Given the description of an element on the screen output the (x, y) to click on. 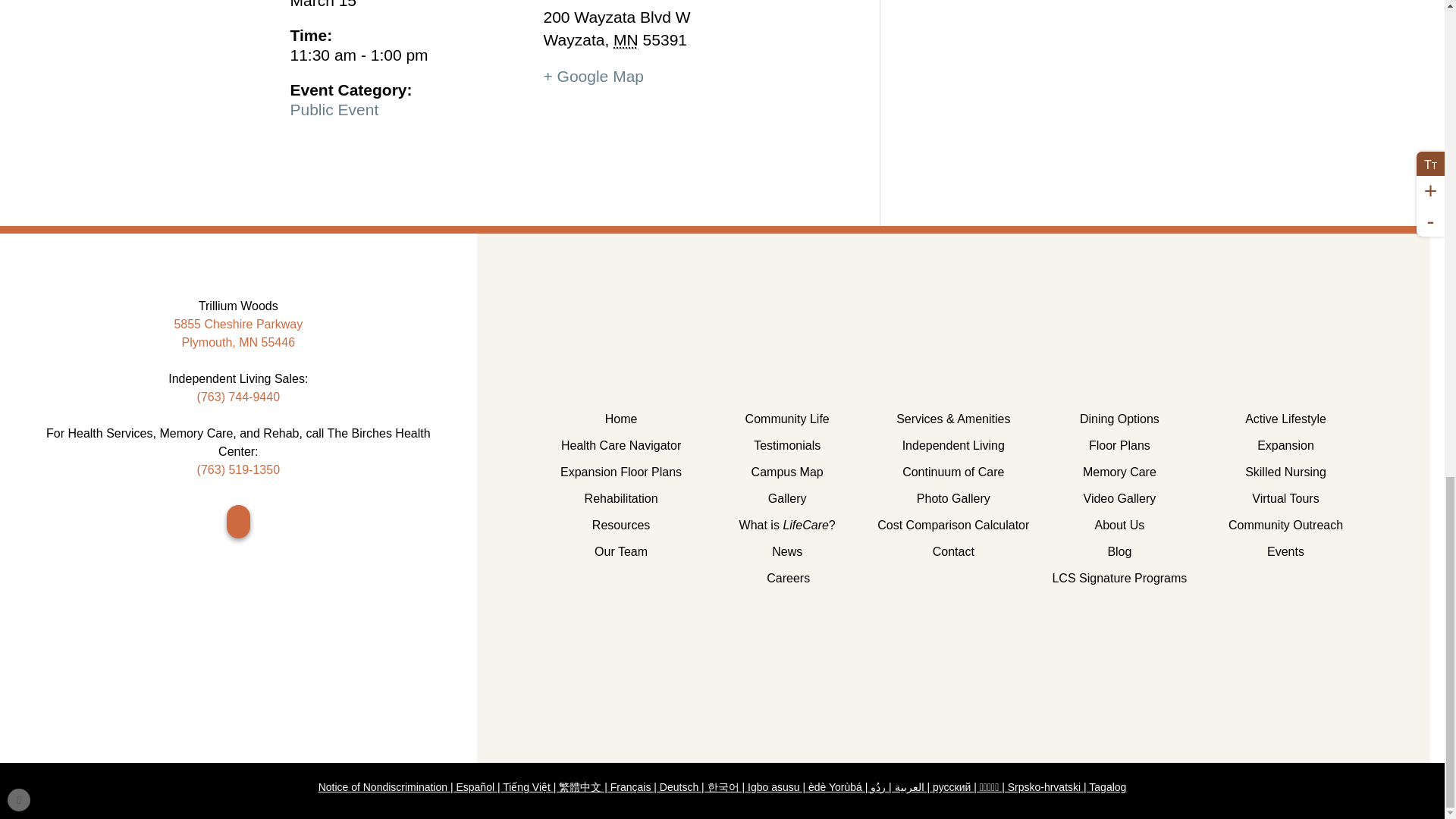
Minnesota (625, 40)
2024-03-15 (408, 5)
2024-03-15 (408, 55)
Click to view a Google Map (593, 76)
